Given the description of an element on the screen output the (x, y) to click on. 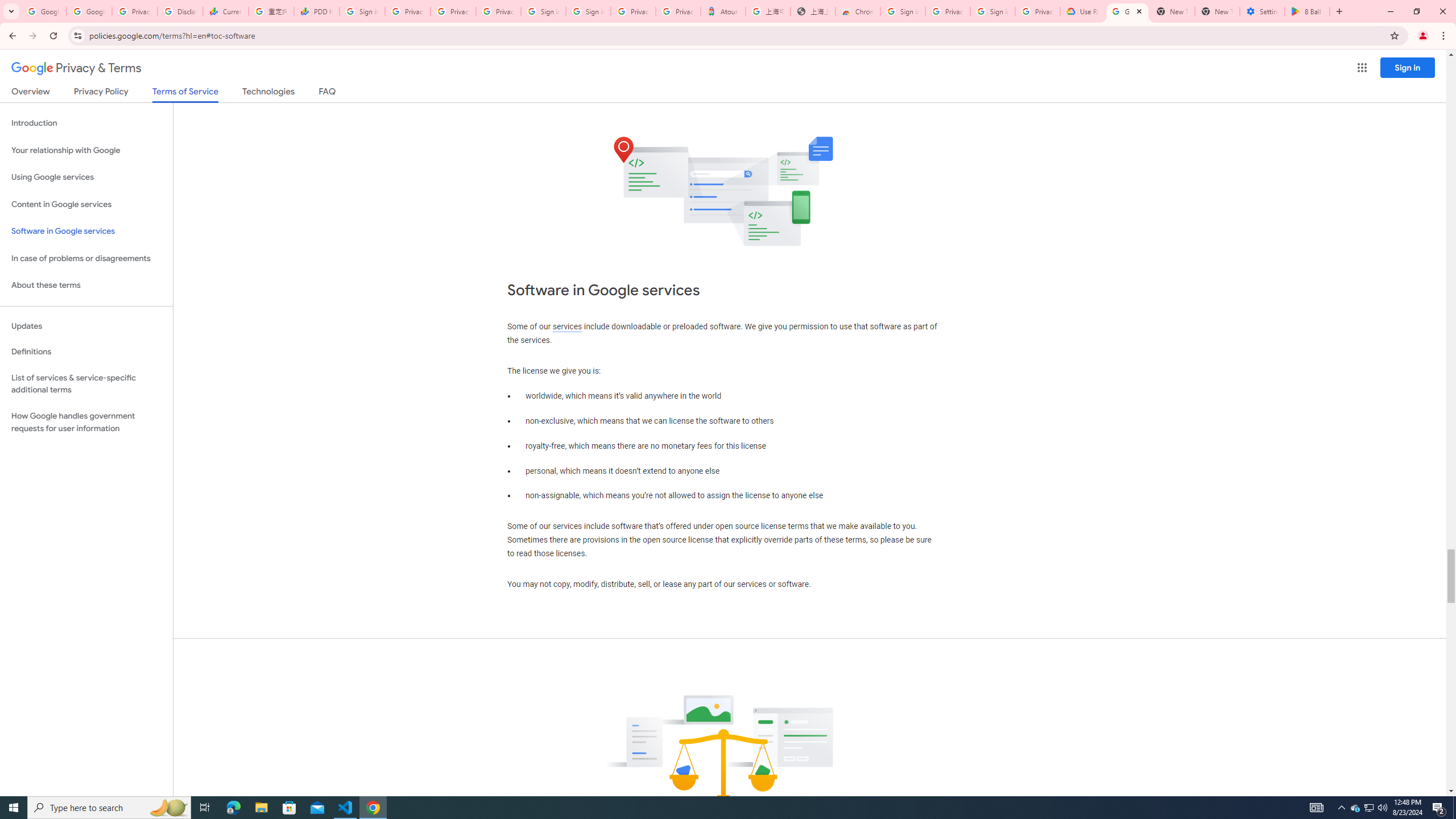
List of services & service-specific additional terms (86, 383)
Sign in - Google Accounts (362, 11)
PDD Holdings Inc - ADR (PDD) Price & News - Google Finance (316, 11)
Introduction (86, 122)
Atour Hotel - Google hotels (723, 11)
